Given the description of an element on the screen output the (x, y) to click on. 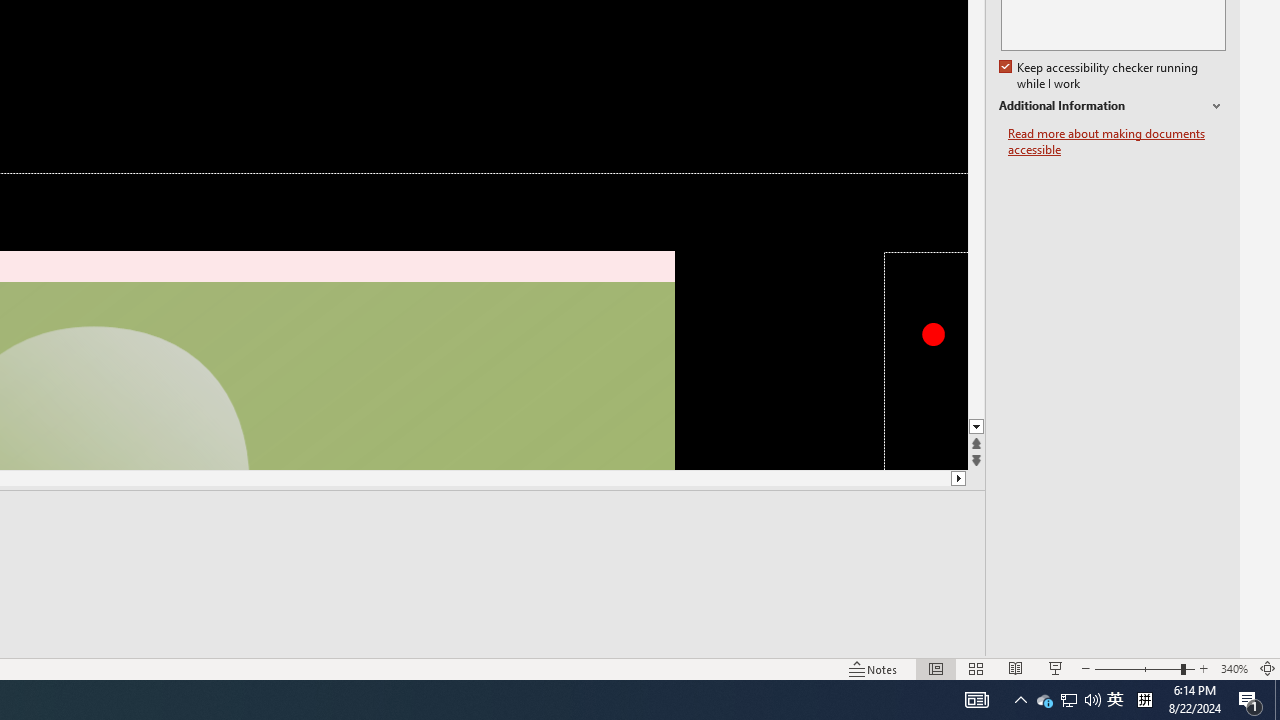
Zoom 340% (1234, 668)
Additional Information (1112, 106)
Read more about making documents accessible (1117, 142)
Notes  (874, 668)
Line down (976, 427)
Keep accessibility checker running while I work (1099, 76)
